Given the description of an element on the screen output the (x, y) to click on. 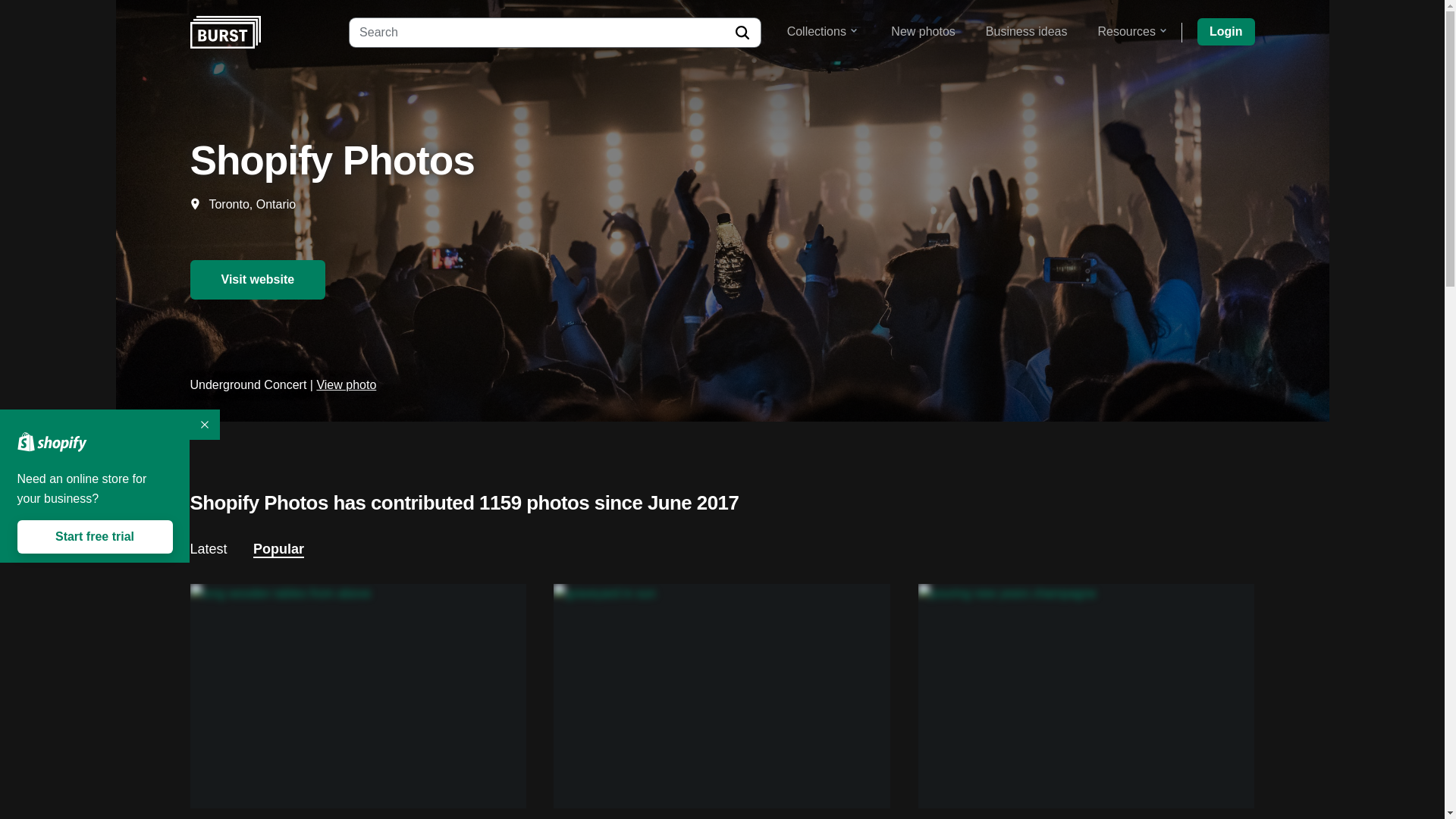
Burst (224, 31)
Search (742, 32)
Burst (224, 31)
Collections (822, 31)
Search (742, 32)
